Given the description of an element on the screen output the (x, y) to click on. 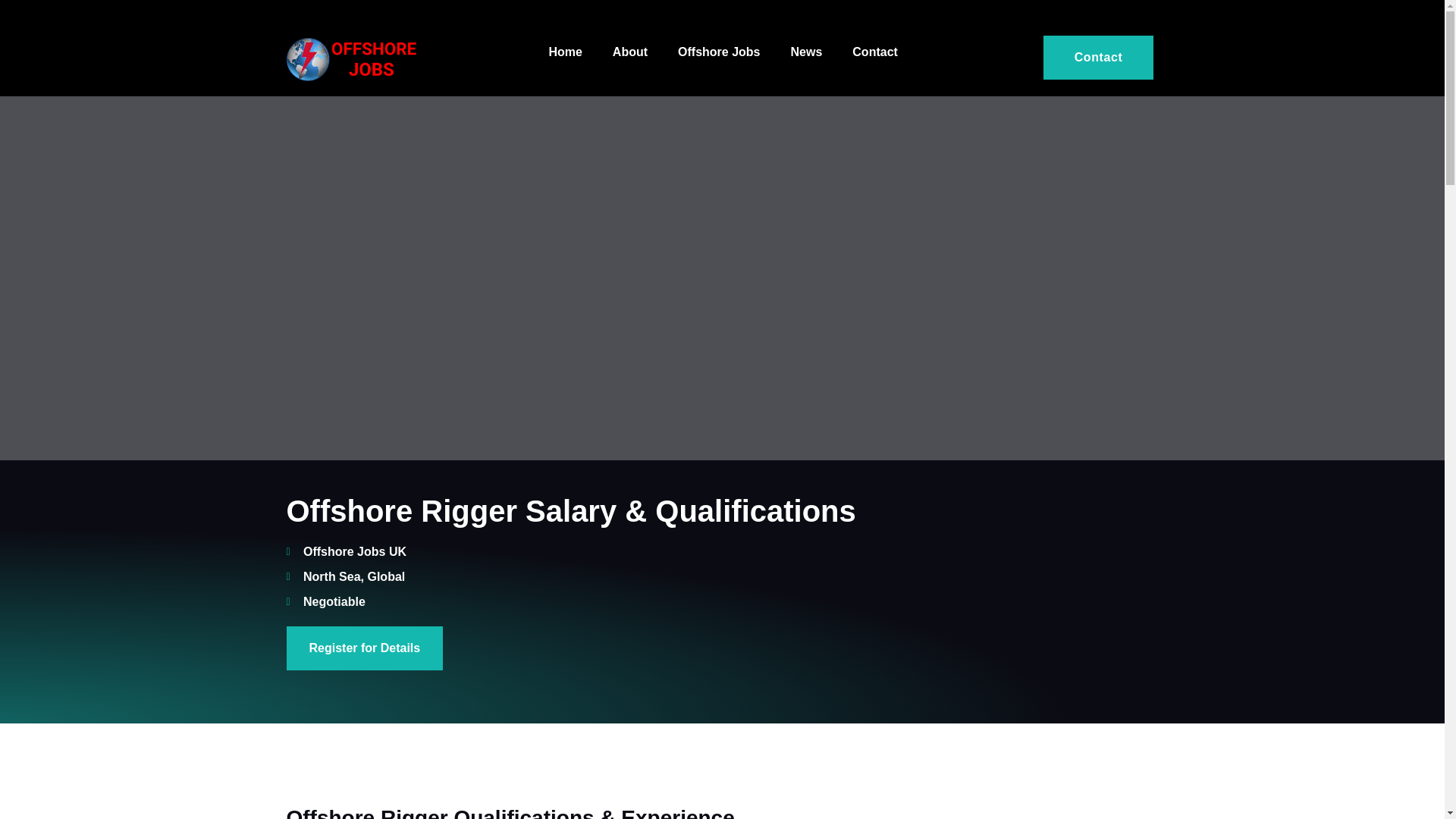
Register for Details (365, 648)
About (629, 53)
Contact (874, 53)
Contact (1098, 57)
News (807, 53)
Offshore Jobs (718, 53)
Home (564, 53)
